Given the description of an element on the screen output the (x, y) to click on. 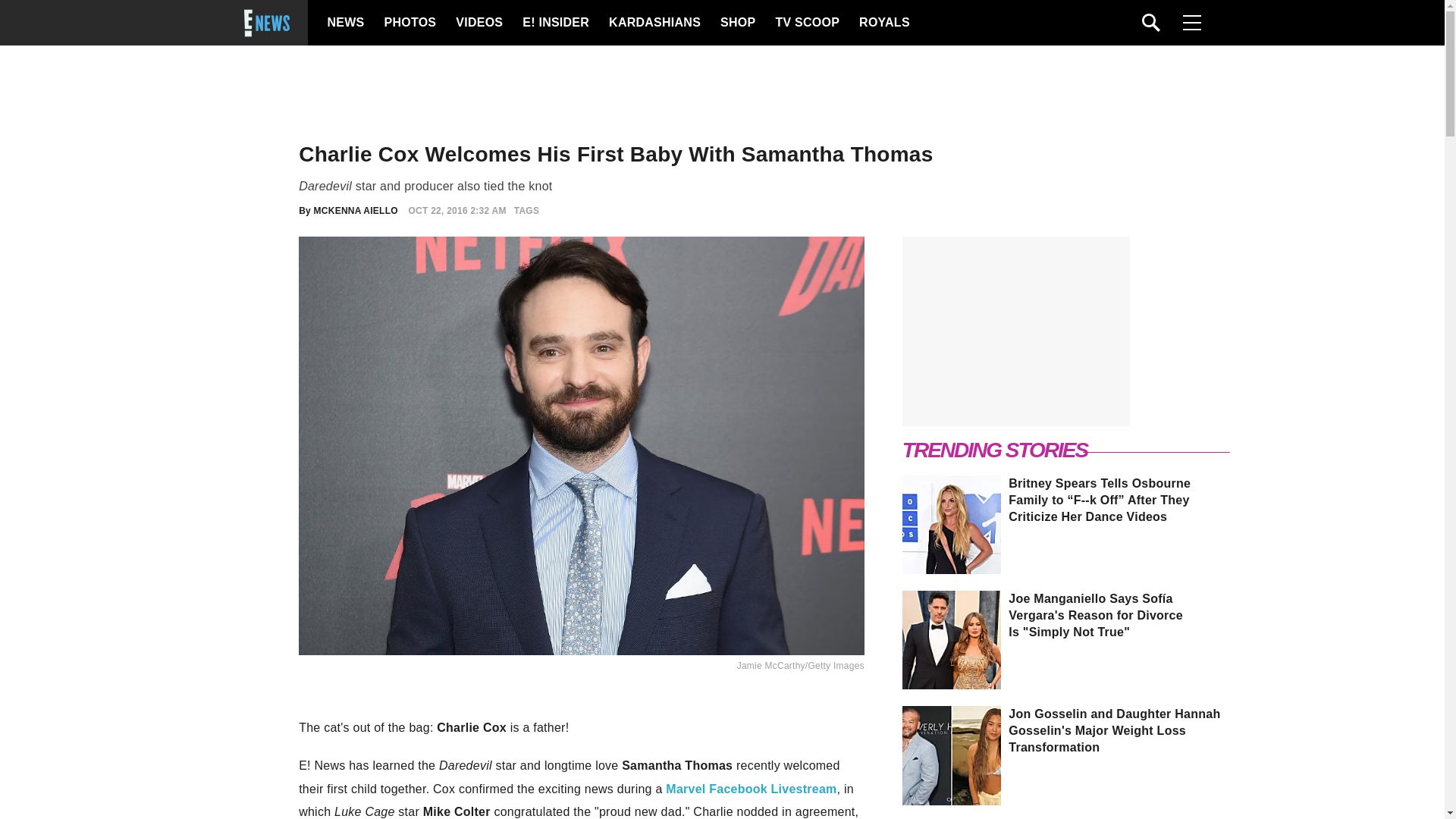
Marvel Facebook Livestream (750, 788)
KARDASHIANS (653, 22)
MCKENNA AIELLO (355, 210)
E! INSIDER (555, 22)
TV SCOOP (806, 22)
ROYALS (883, 22)
NEWS (345, 22)
VIDEOS (478, 22)
SHOP (737, 22)
PHOTOS (408, 22)
